Given the description of an element on the screen output the (x, y) to click on. 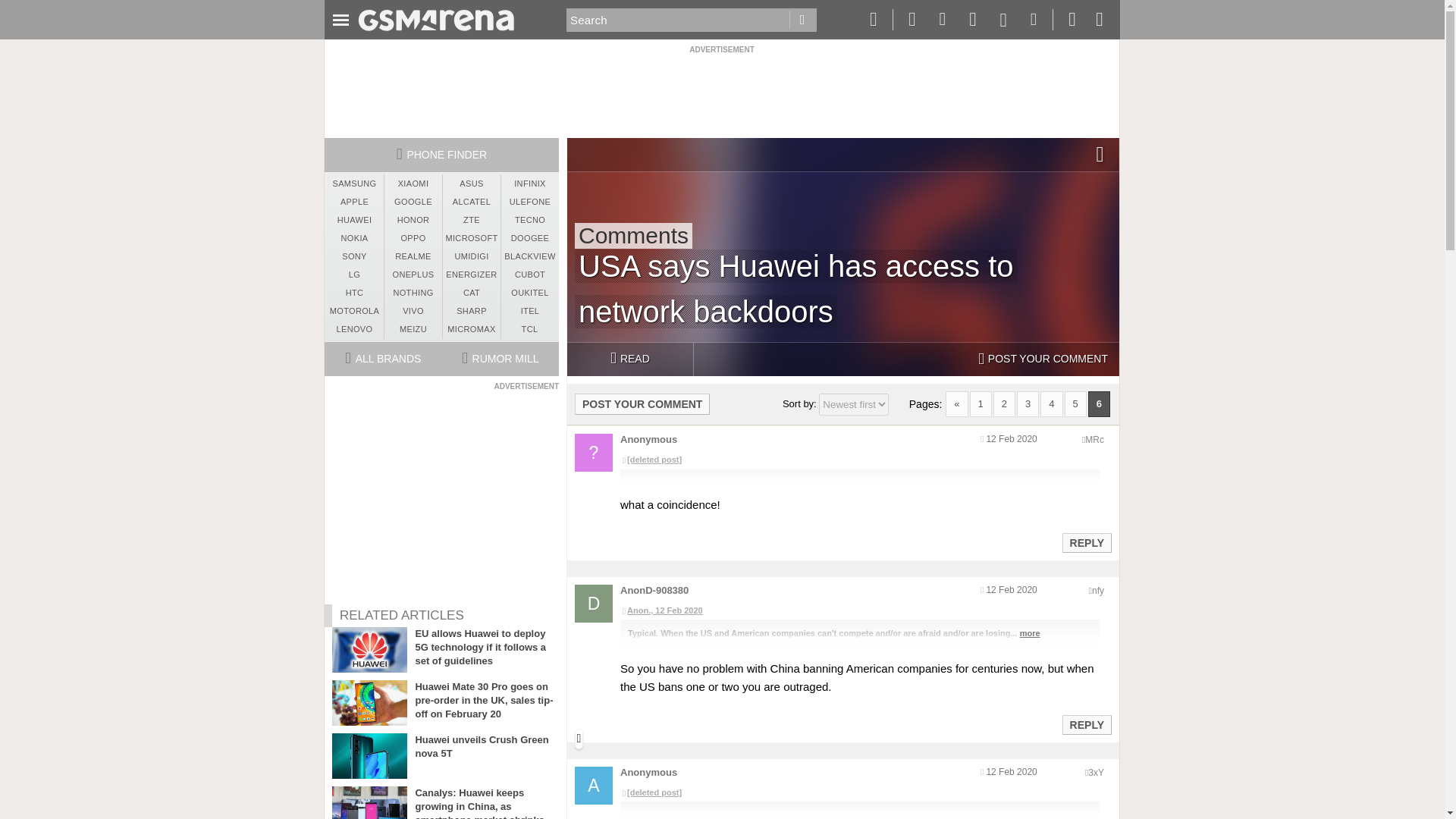
Go (802, 19)
Encoded anonymized location (1097, 590)
Reply to this post (1086, 725)
Encoded anonymized location (1093, 439)
3 (1027, 403)
POST YOUR COMMENT (642, 403)
POST YOUR COMMENT (1042, 359)
Reply to this post (1086, 542)
2 (1003, 403)
READ (630, 359)
5 (1075, 403)
4 (1051, 403)
Previous page (956, 403)
Encoded anonymized location (1095, 772)
Sort comments by (853, 404)
